Given the description of an element on the screen output the (x, y) to click on. 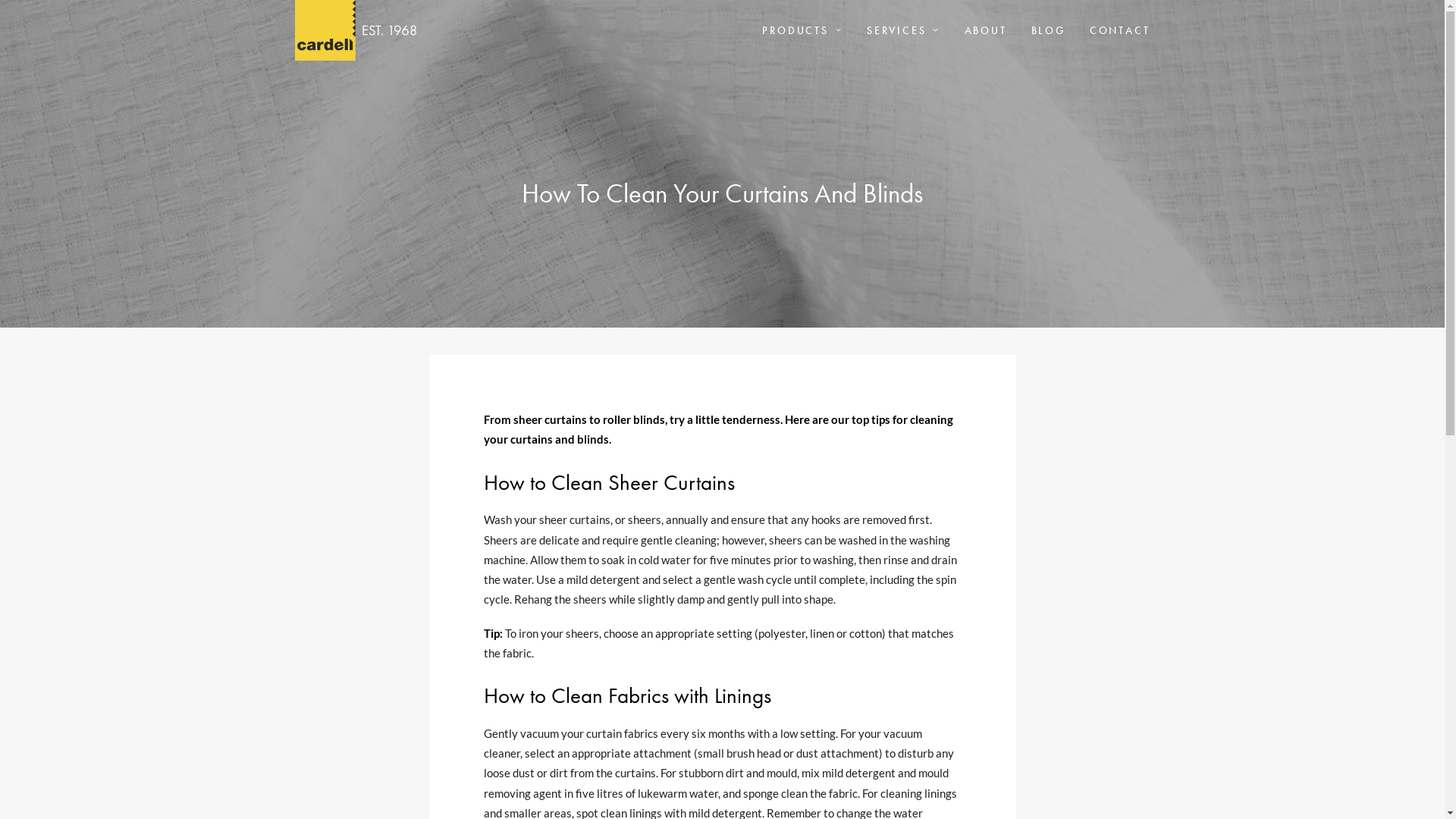
CONTACT Element type: text (1114, 30)
BLOG Element type: text (1048, 30)
SERVICES Element type: text (903, 30)
ABOUT Element type: text (985, 30)
PRODUCTS Element type: text (807, 30)
